Given the description of an element on the screen output the (x, y) to click on. 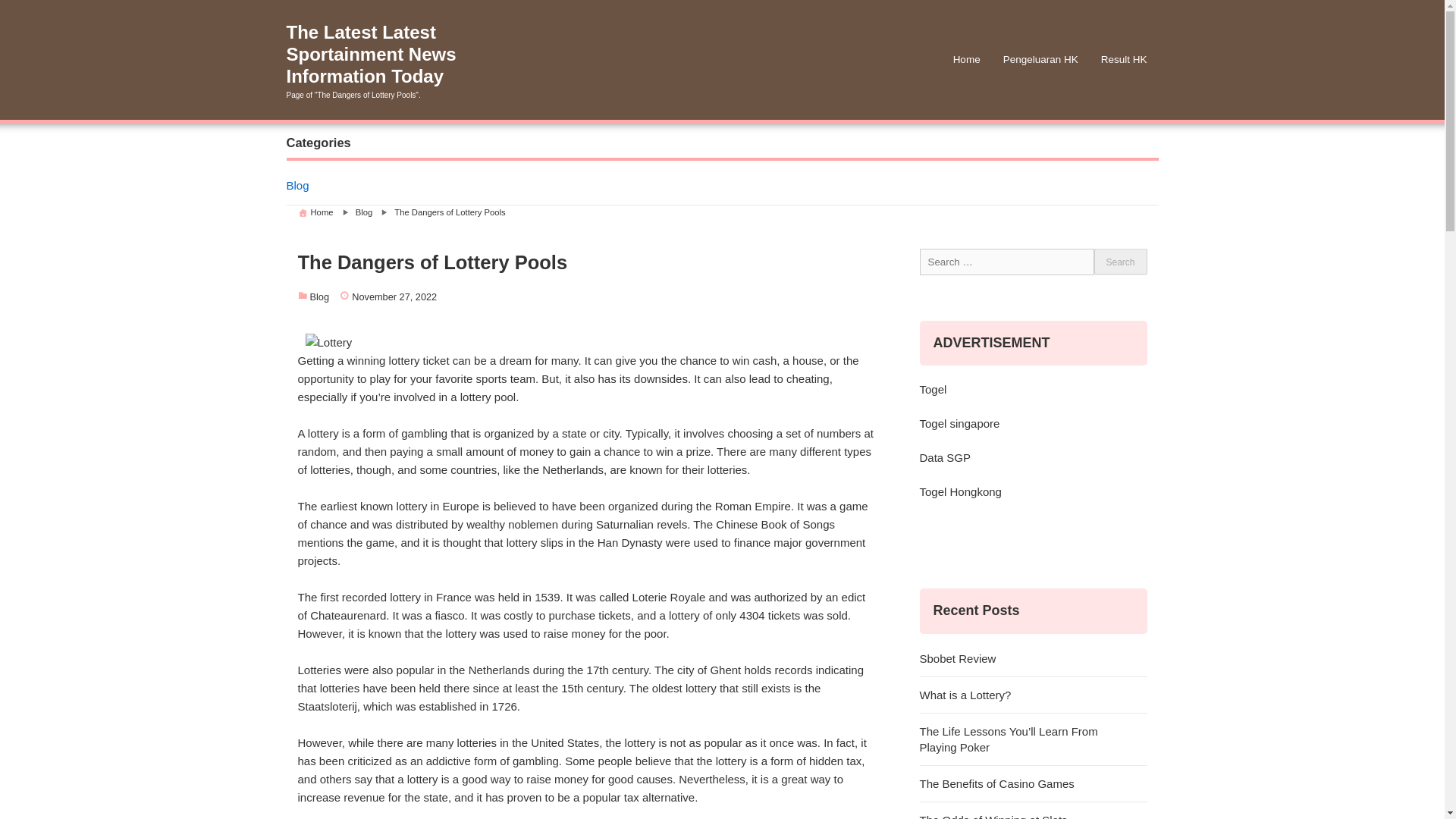
The Latest Latest Sportainment News Information Today (399, 54)
Togel singapore (958, 422)
Search (1120, 261)
Pengeluaran HK (1040, 59)
Sbobet Review (1032, 658)
Blog (363, 212)
The Benefits of Casino Games (1032, 783)
Result HK (1123, 59)
Home (966, 59)
Togel (932, 389)
Blog (722, 186)
The Odds of Winning at Slots (1032, 810)
Data SGP (944, 457)
What is a Lottery? (1032, 695)
Search (1120, 261)
